Given the description of an element on the screen output the (x, y) to click on. 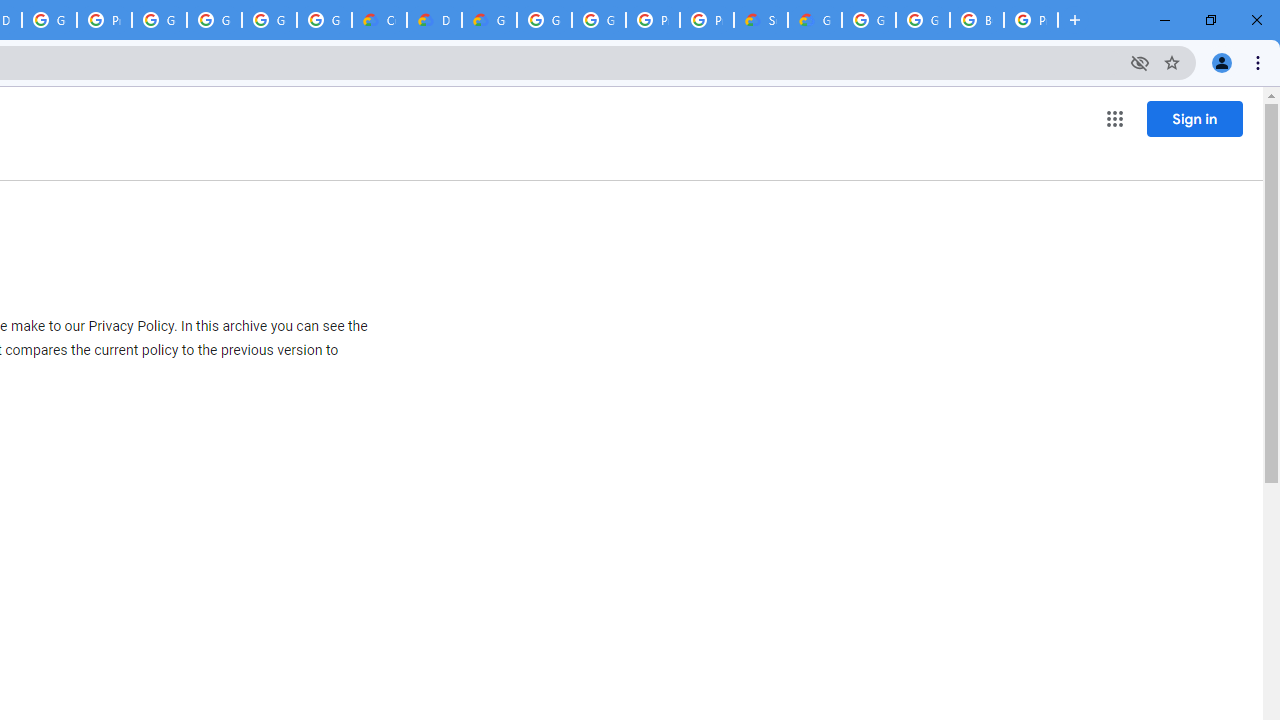
Google Cloud Platform (544, 20)
Customer Care | Google Cloud (379, 20)
Google Workspace - Specific Terms (324, 20)
Google Cloud Platform (598, 20)
Gemini for Business and Developers | Google Cloud (489, 20)
